Given the description of an element on the screen output the (x, y) to click on. 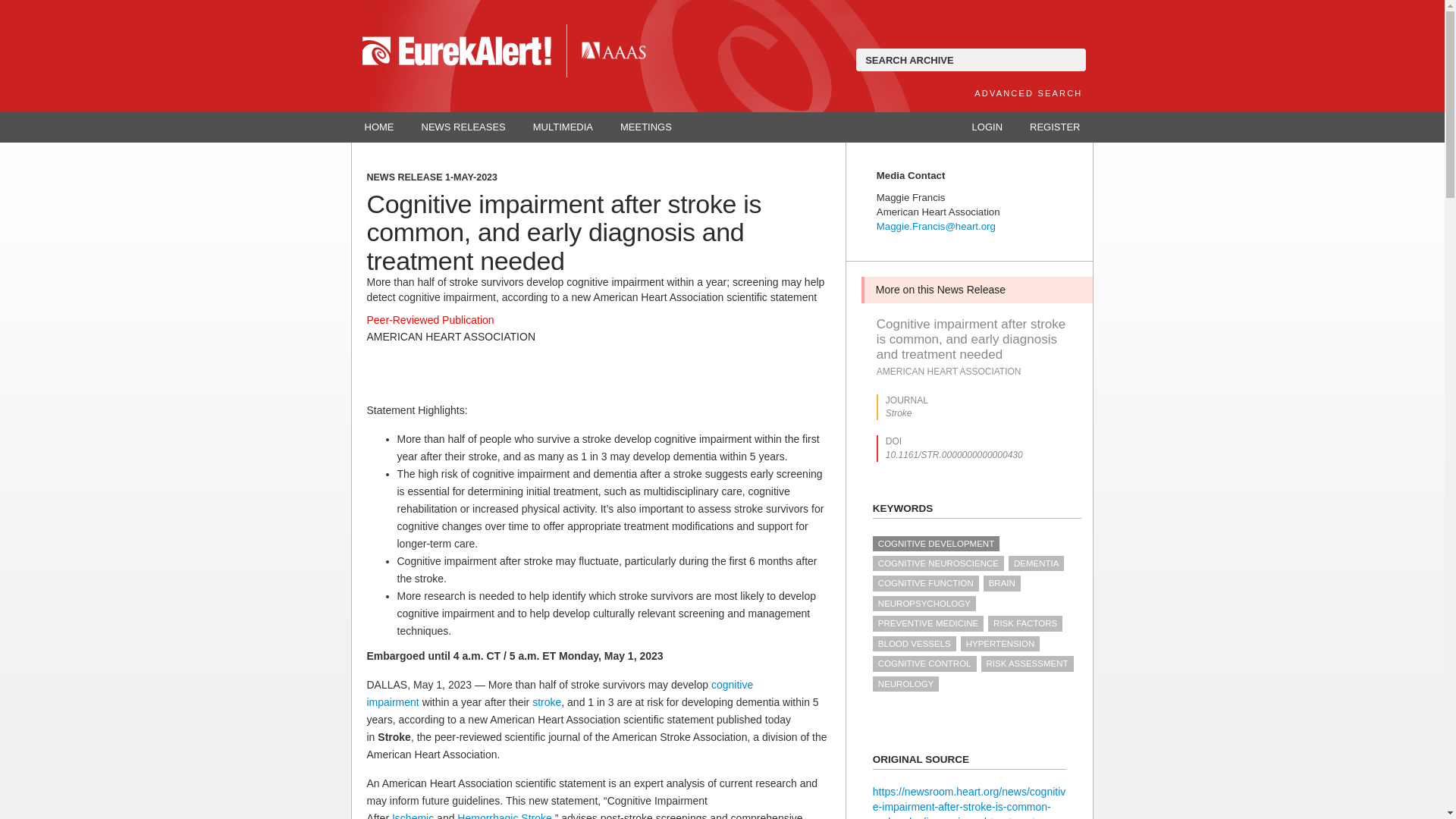
COGNITIVE DEVELOPMENT (935, 543)
cognitive impairment (560, 693)
Peer-Reviewed Publication (430, 319)
NEWS RELEASES (463, 127)
PREVENTIVE MEDICINE (928, 622)
COGNITIVE NEUROSCIENCE (938, 563)
MEETINGS (646, 127)
COGNITIVE FUNCTION (925, 582)
Ischemic (412, 815)
HOME (378, 127)
NEUROPSYCHOLOGY (923, 603)
Hemorrhagic Stroke (504, 815)
stroke (546, 702)
ADVANCED SEARCH (1027, 92)
